Given the description of an element on the screen output the (x, y) to click on. 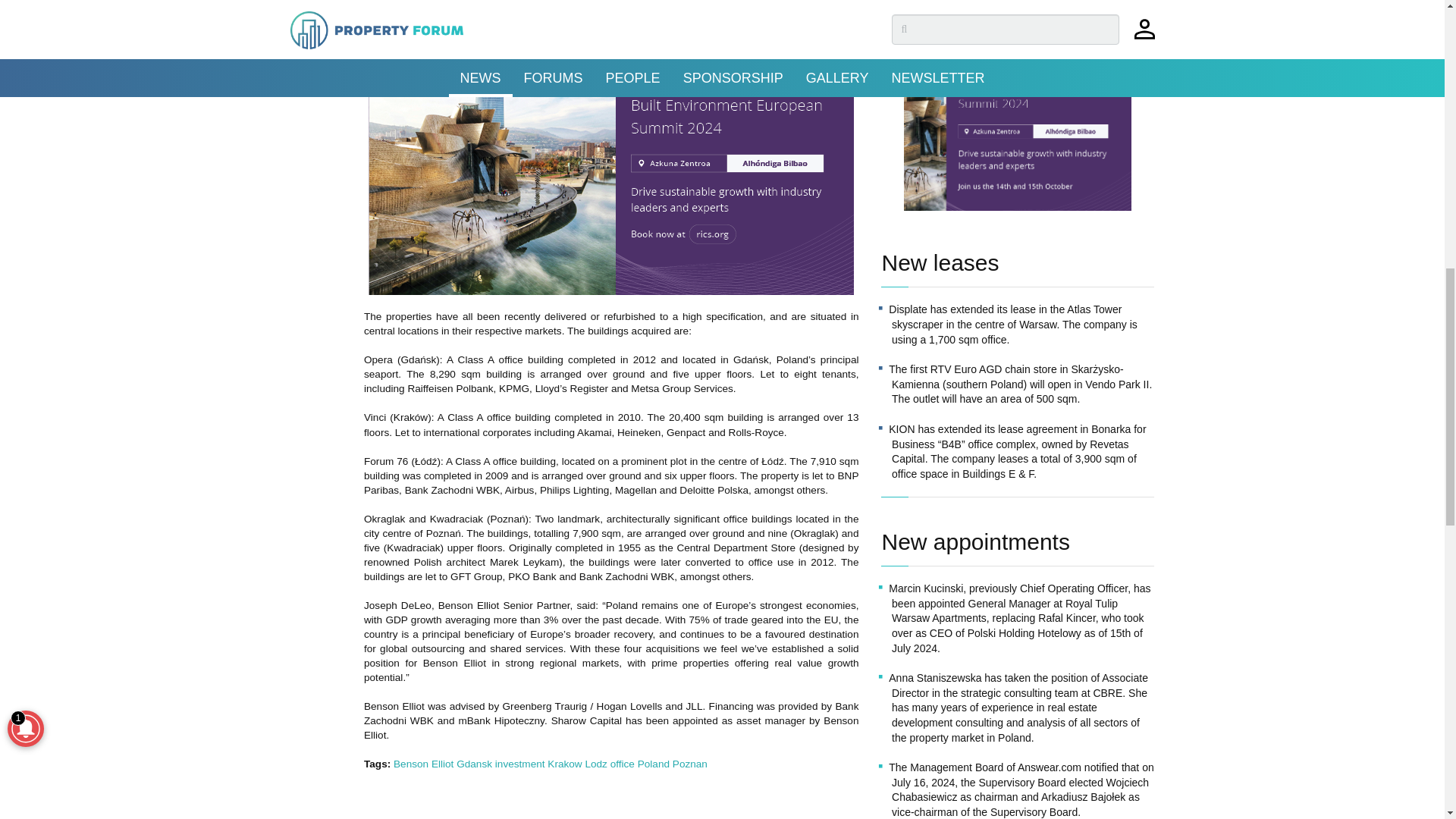
Benson Elliot (422, 763)
